Given the description of an element on the screen output the (x, y) to click on. 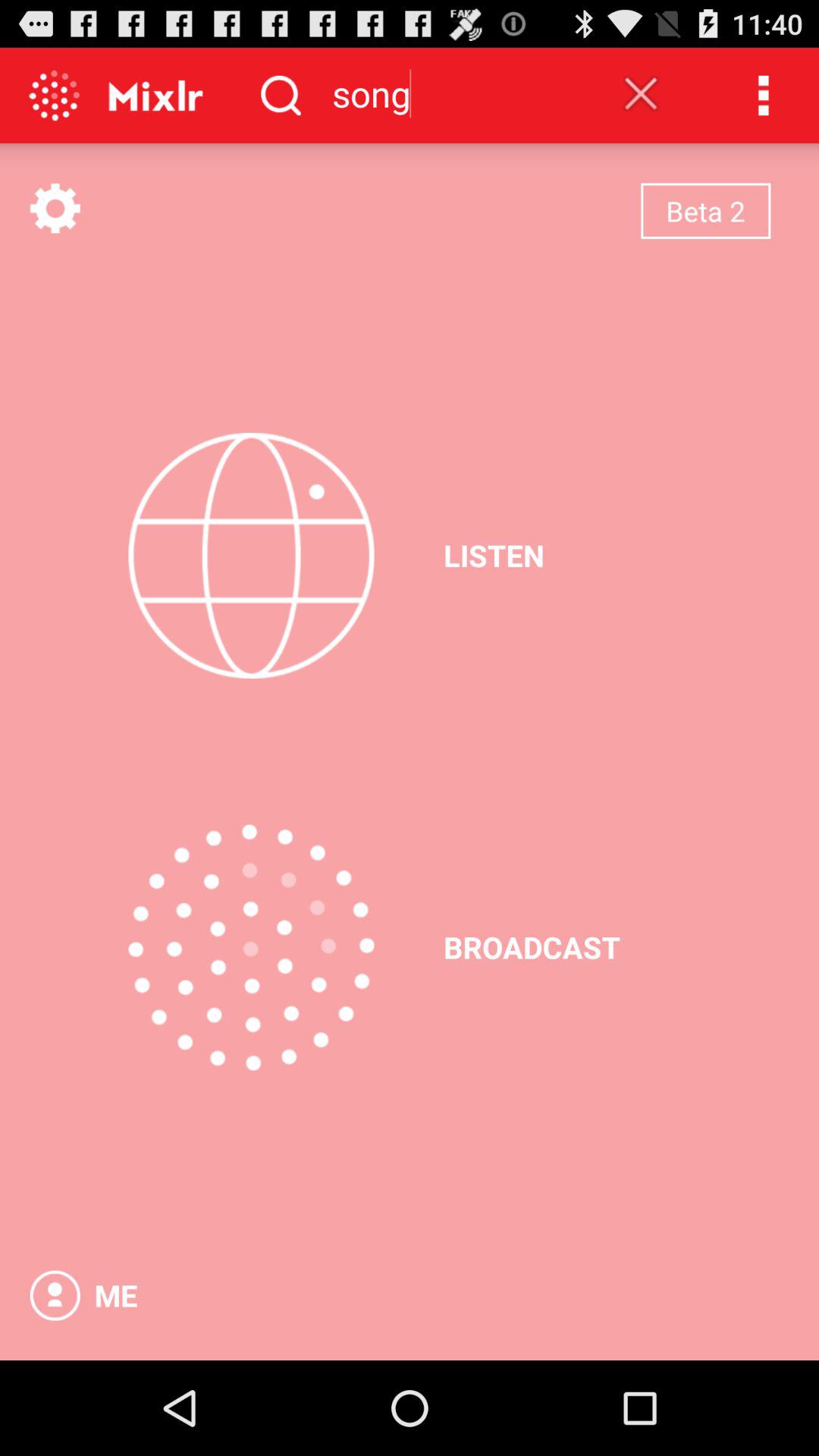
open song icon (454, 93)
